Given the description of an element on the screen output the (x, y) to click on. 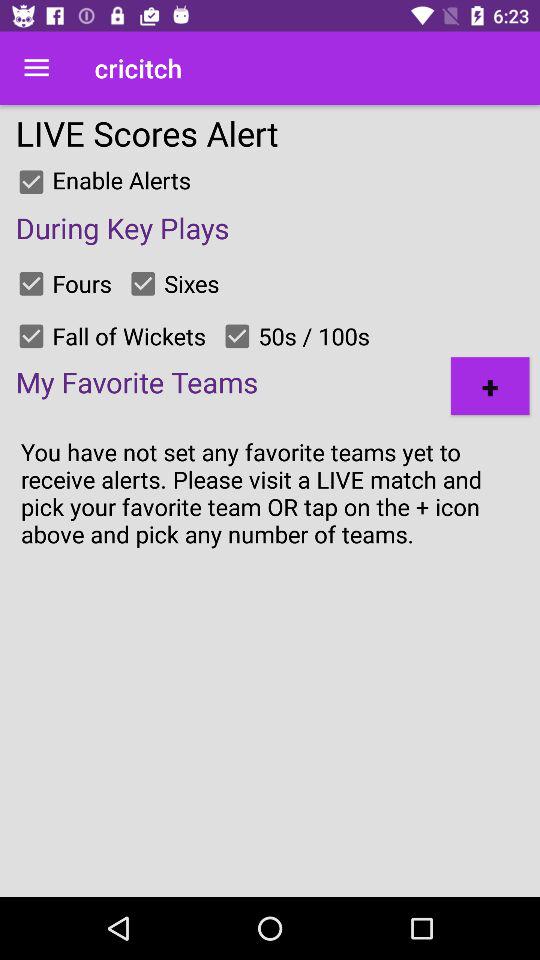
flip until the + item (489, 386)
